Given the description of an element on the screen output the (x, y) to click on. 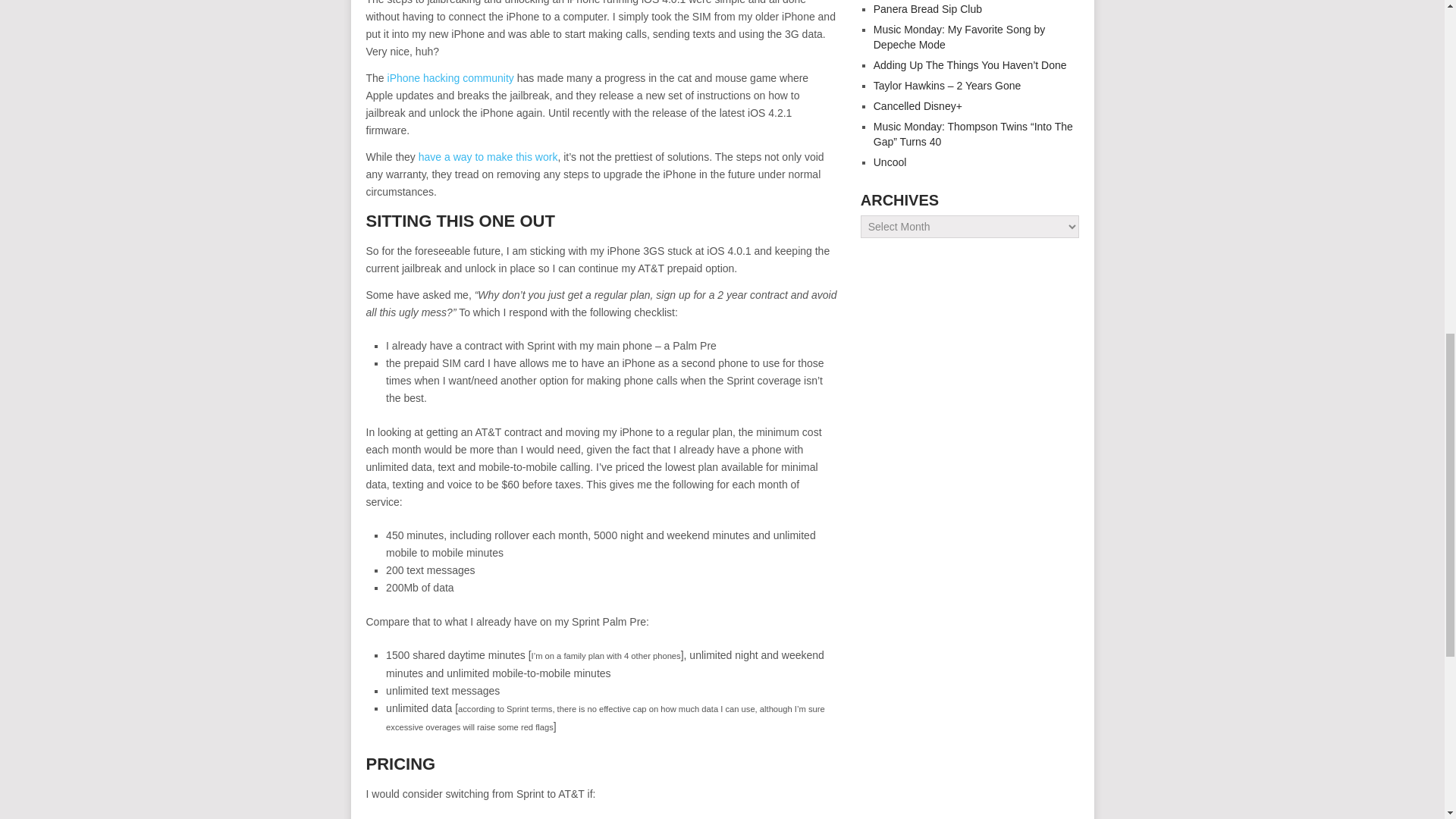
Panera Bread Sip Club (927, 9)
have a way to make this work (488, 156)
Music Monday: My Favorite Song by Depeche Mode (959, 36)
iPhone hacking community (450, 78)
Uncool (890, 162)
